Given the description of an element on the screen output the (x, y) to click on. 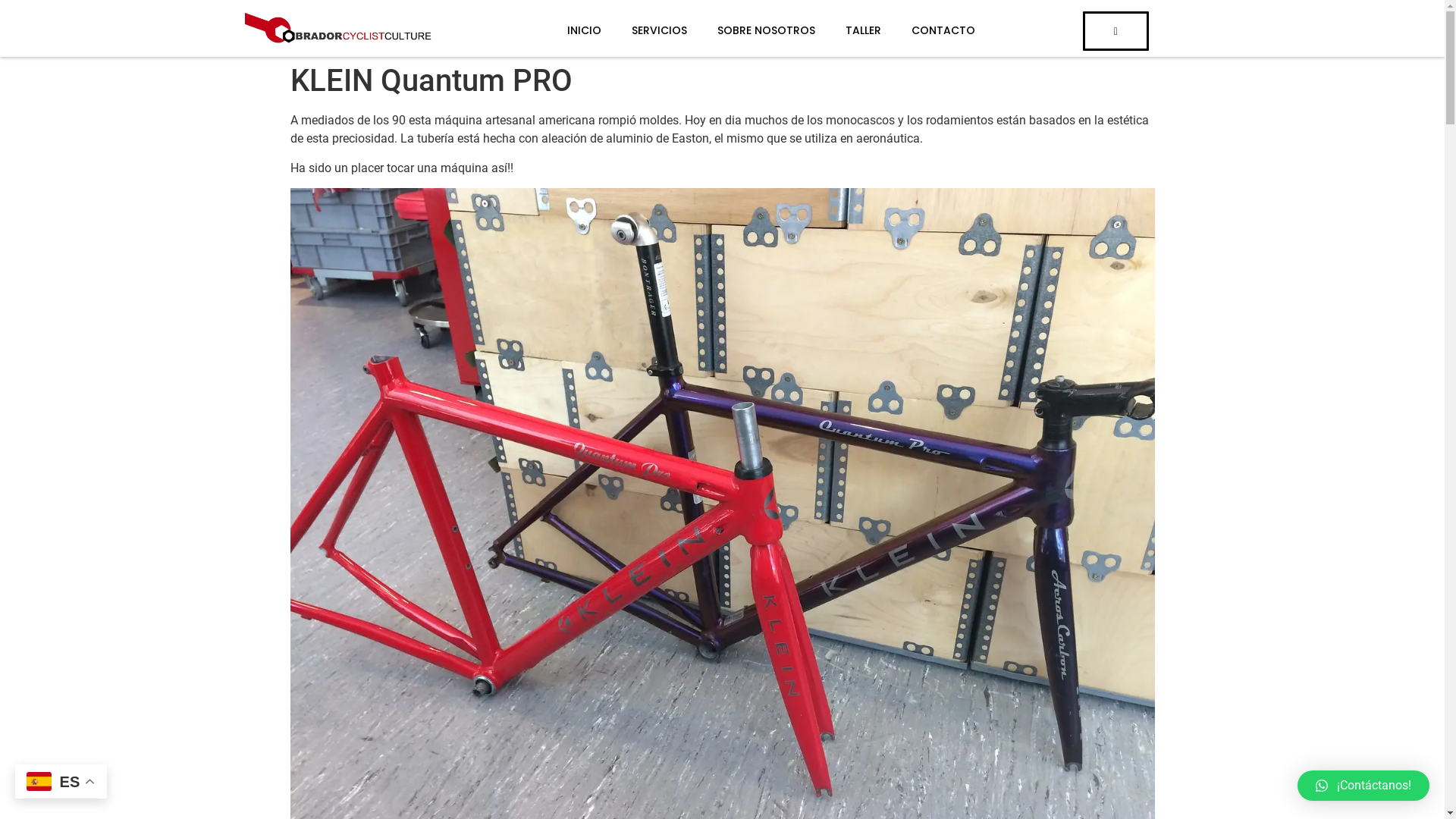
INICIO Element type: text (568, 30)
SOBRE NOSOTROS Element type: text (751, 30)
TALLER Element type: text (848, 30)
CONTACTO Element type: text (928, 30)
SERVICIOS Element type: text (644, 30)
